Given the description of an element on the screen output the (x, y) to click on. 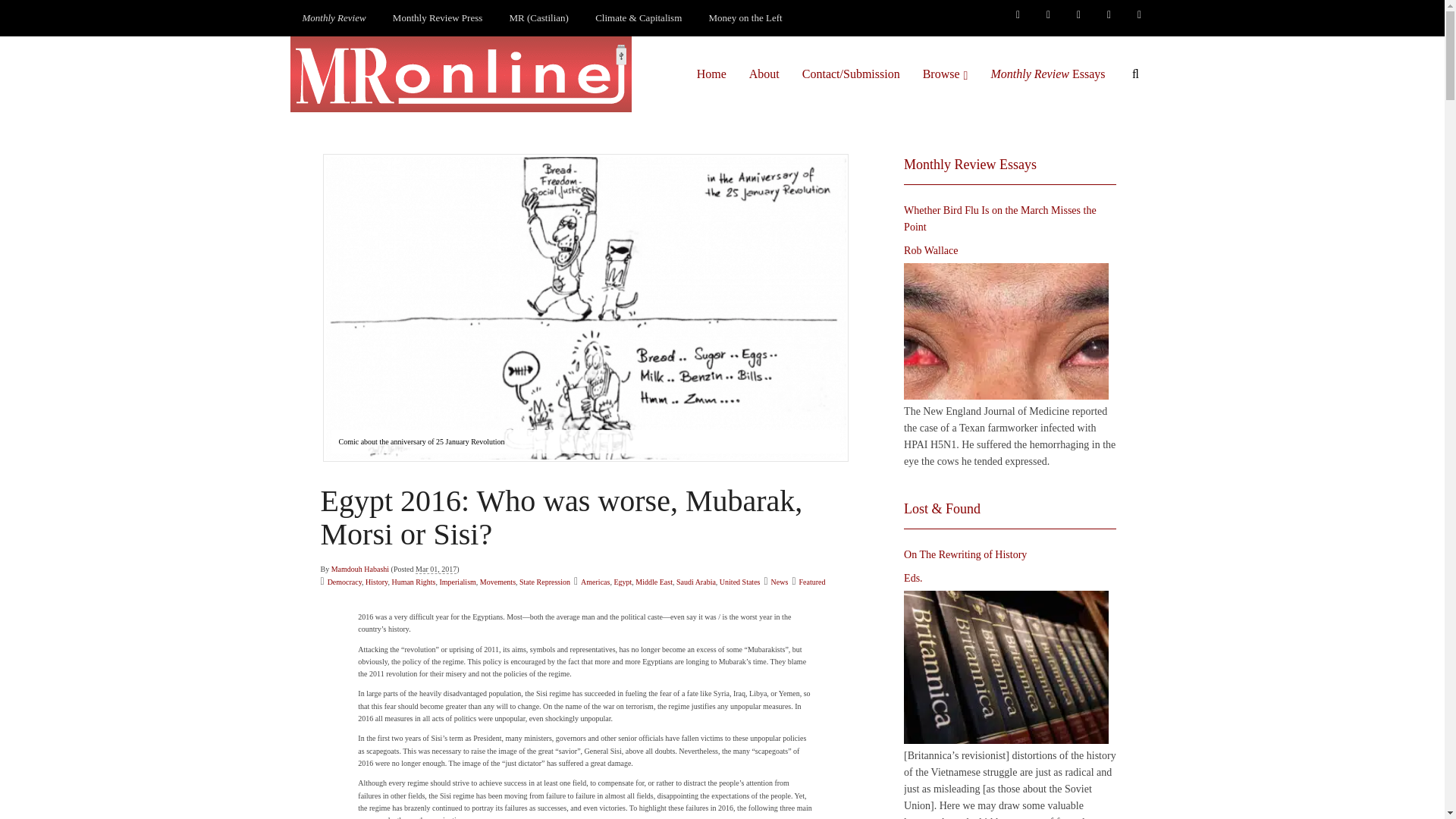
Whether Bird Flu Is on the March Misses the Point (1006, 330)
Home (711, 74)
Home (711, 74)
Monthly Review Magazine (333, 18)
Monthly Review Press (437, 18)
Posts by Rob Wallace (931, 250)
Monthly Review (333, 18)
Money on the Left (745, 18)
About (764, 74)
Browse (945, 74)
